Given the description of an element on the screen output the (x, y) to click on. 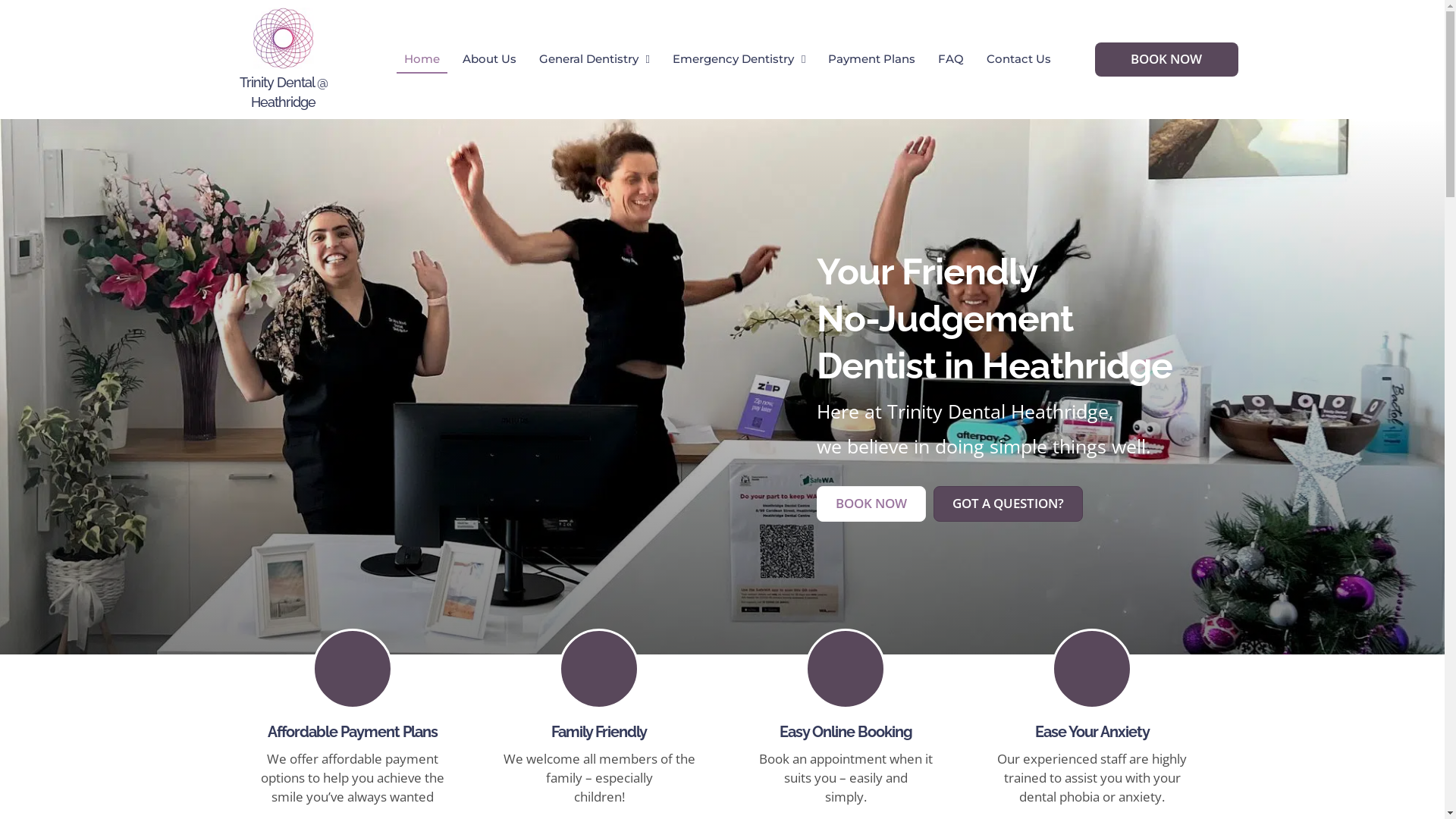
logo Element type: hover (283, 38)
GOT A QUESTION? Element type: text (1007, 503)
General Dentistry Element type: text (594, 59)
FAQ Element type: text (950, 59)
About Us Element type: text (489, 59)
Contact Us Element type: text (1018, 59)
BOOK NOW Element type: text (1166, 58)
BOOK NOW Element type: text (870, 503)
Home Element type: text (421, 59)
Payment Plans Element type: text (871, 59)
Emergency Dentistry Element type: text (738, 59)
Trinity Dental @ Heathridge Element type: text (283, 91)
